Given the description of an element on the screen output the (x, y) to click on. 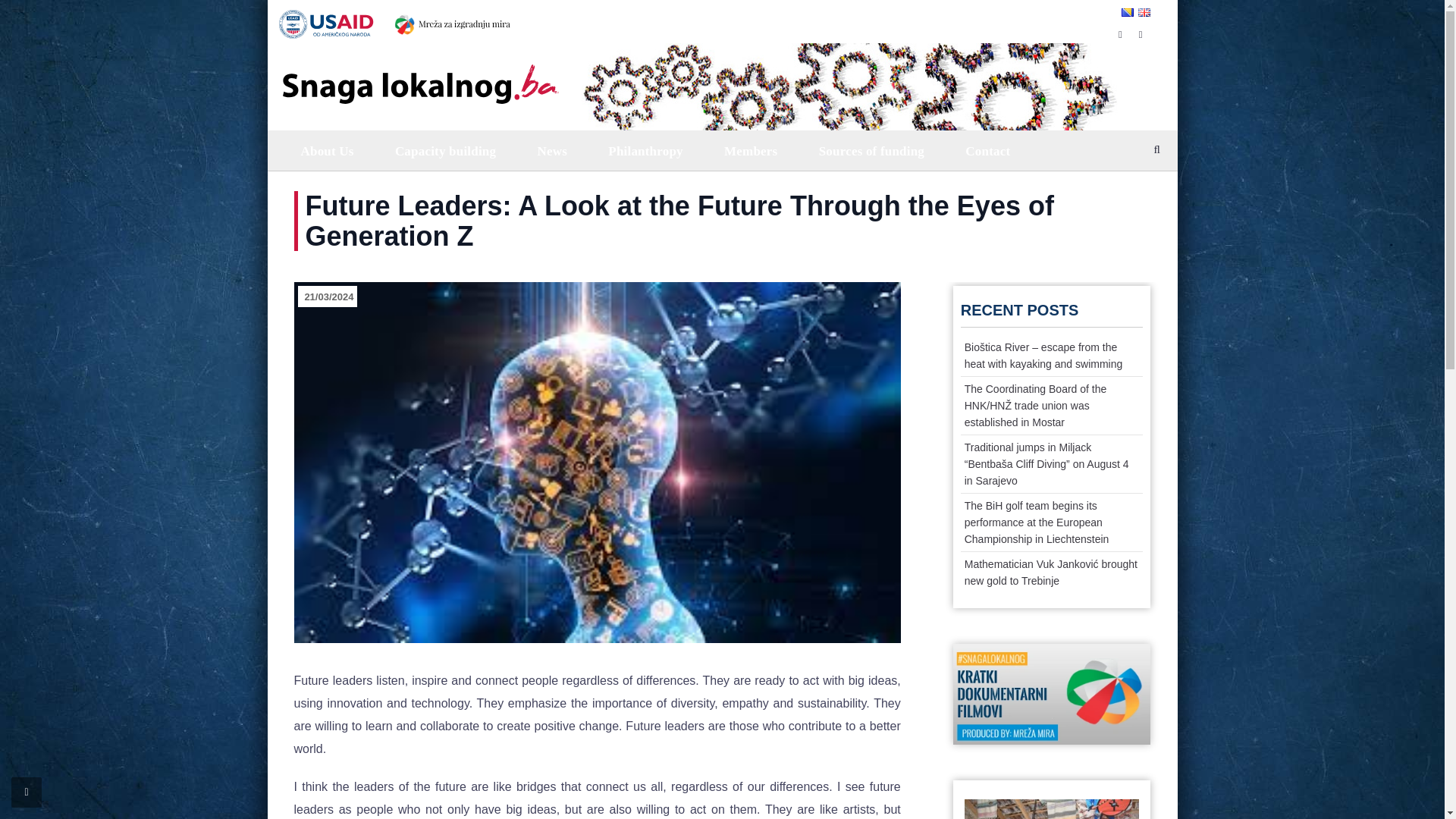
Members (748, 150)
About Us (325, 150)
Search (1144, 191)
Snaga lokalnog (419, 73)
Philanthropy (643, 150)
News (550, 150)
Sources of funding (869, 150)
Capacity building (443, 150)
Contact (986, 150)
